Given the description of an element on the screen output the (x, y) to click on. 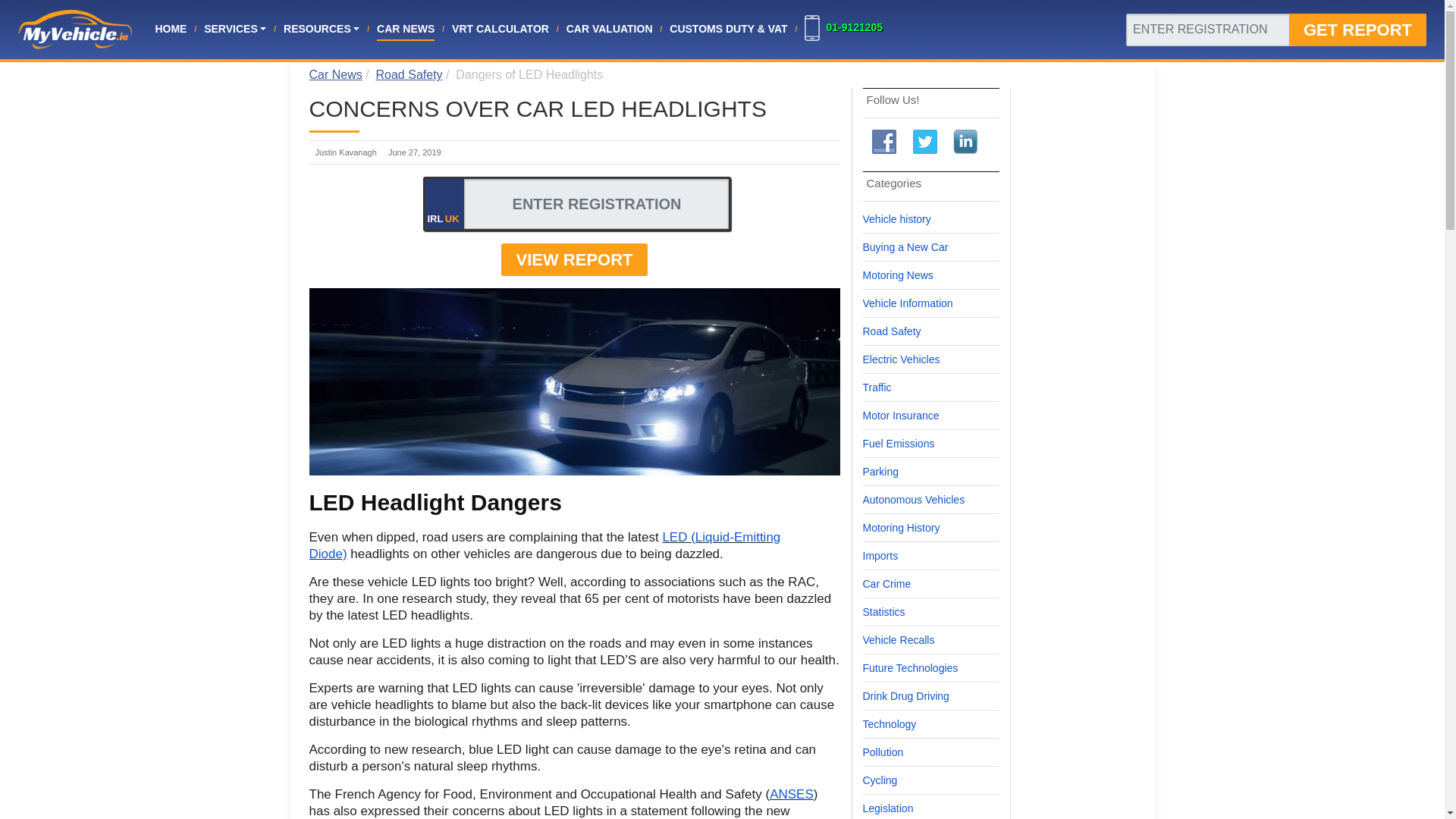
Posts by Justin Kavanagh (346, 152)
Follow Us on Twitter (924, 141)
01-9121205 (853, 27)
Car News (335, 74)
Road Safety (408, 74)
Go to the Road Safety category archives. (408, 74)
Go to Car News. (335, 74)
ANSES (791, 794)
VIEW REPORT (573, 259)
Home (170, 29)
GET REPORT (1357, 29)
CAR VALUATION (609, 29)
HOME (170, 29)
Irish Current Automotive Price Guide (609, 29)
VRT CALCULATOR (499, 29)
